Given the description of an element on the screen output the (x, y) to click on. 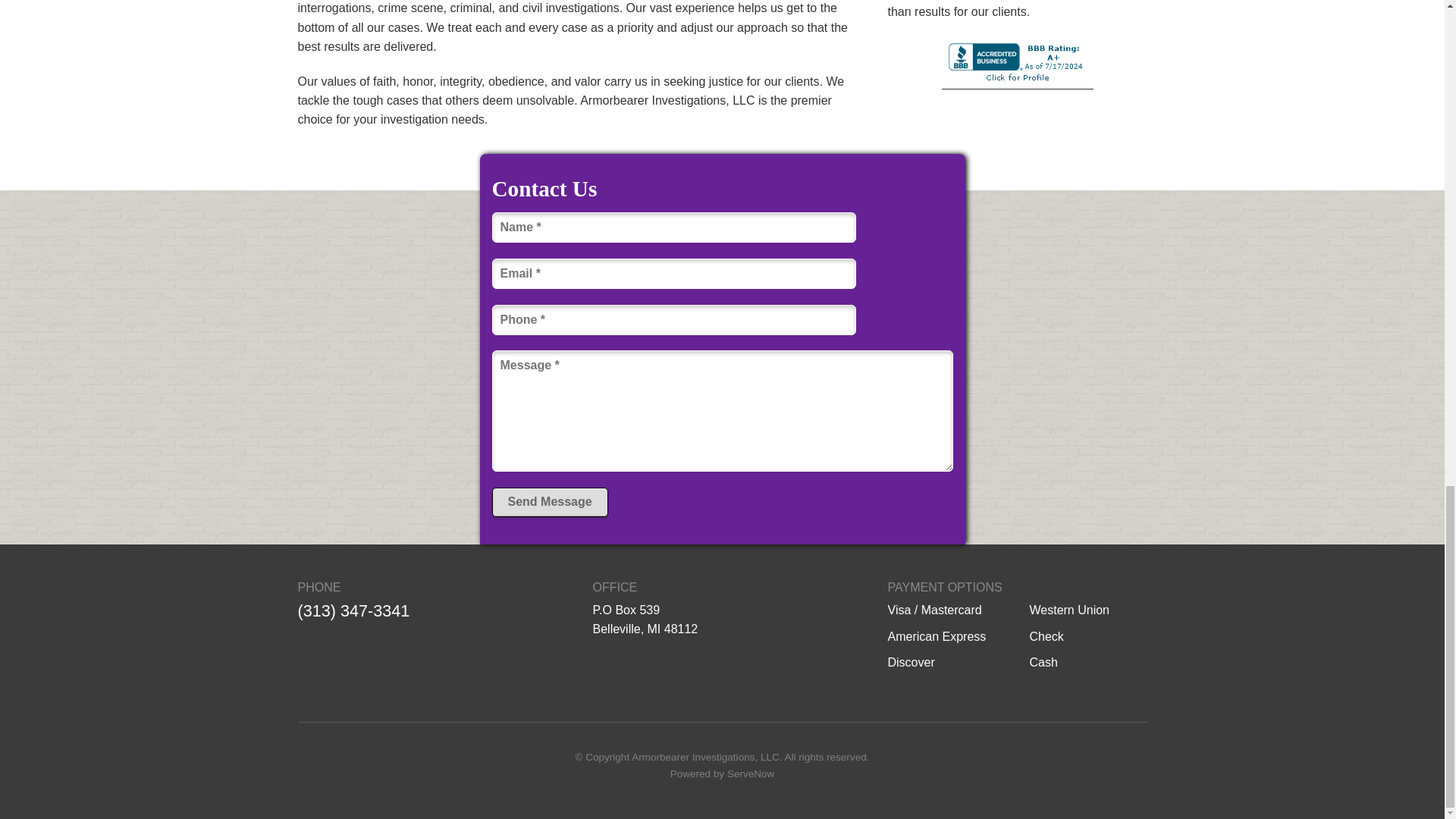
ServeNow (750, 773)
Send Message (549, 501)
Send Message (549, 501)
Armorbearer Investigations, LLC (704, 756)
